Given the description of an element on the screen output the (x, y) to click on. 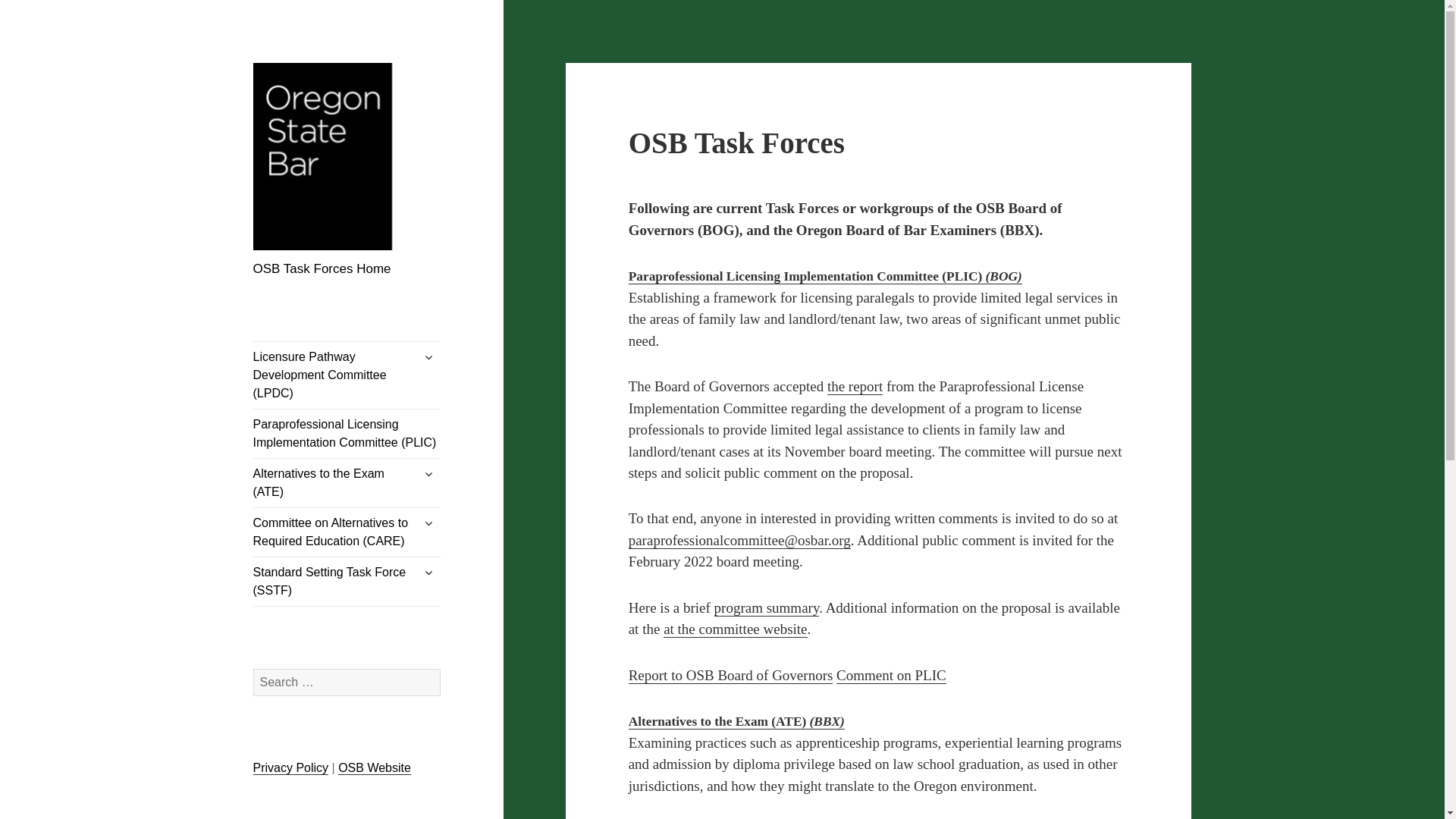
the report (854, 386)
at the committee website (734, 629)
expand child menu (428, 523)
expand child menu (428, 571)
expand child menu (428, 473)
Report to OSB Board of Governors (730, 675)
Privacy Policy (291, 767)
OSB Task Forces Home (322, 268)
expand child menu (428, 355)
